Given the description of an element on the screen output the (x, y) to click on. 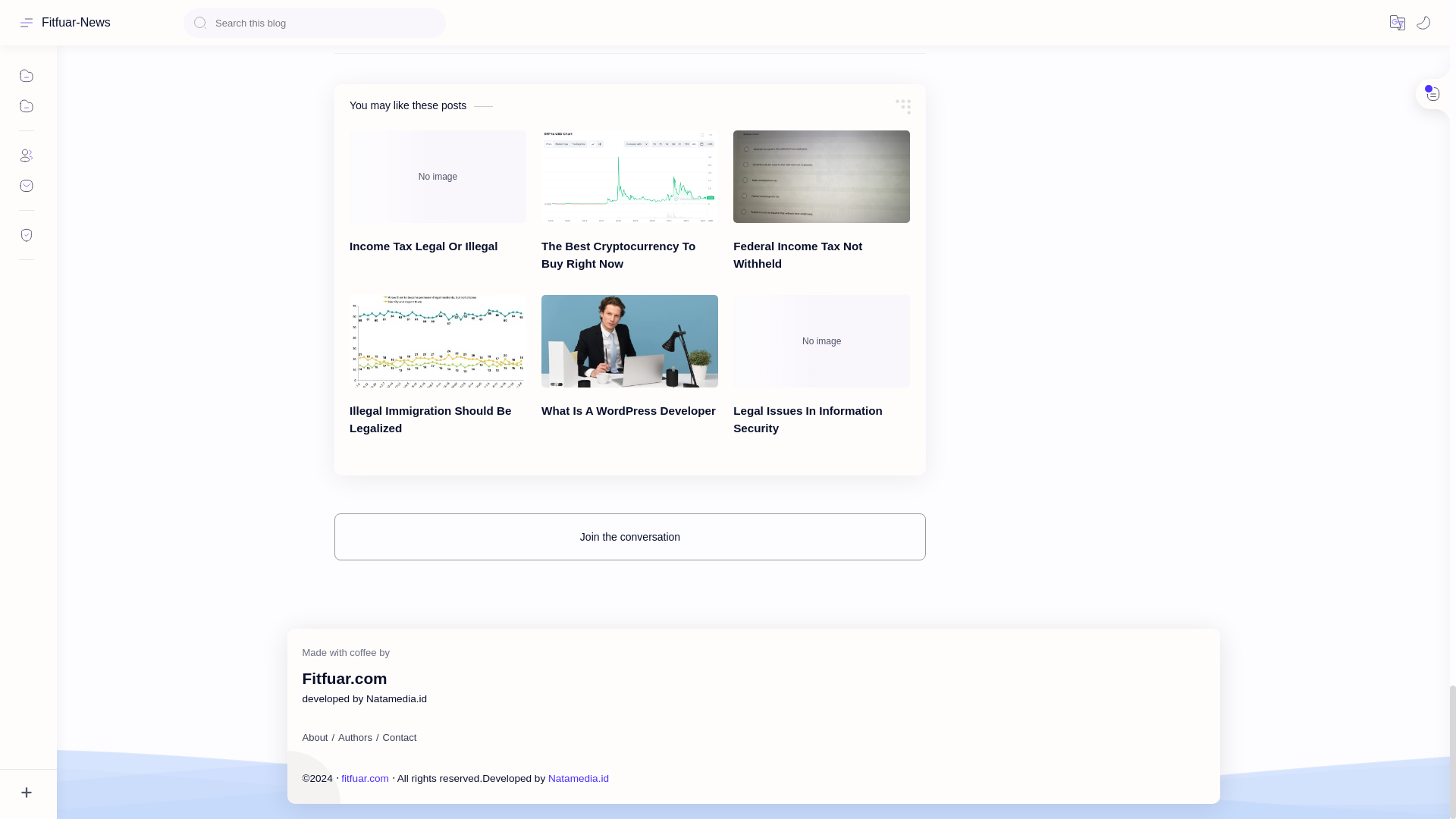
Income Tax Legal Or Illegal (437, 176)
Legal Issues In Information Security (821, 340)
The Best Cryptocurrency To Buy Right Now (629, 176)
Federal Income Tax Not Withheld (821, 176)
What Is A WordPress Developer (629, 340)
Illegal Immigration Should Be Legalized (437, 340)
